Given the description of an element on the screen output the (x, y) to click on. 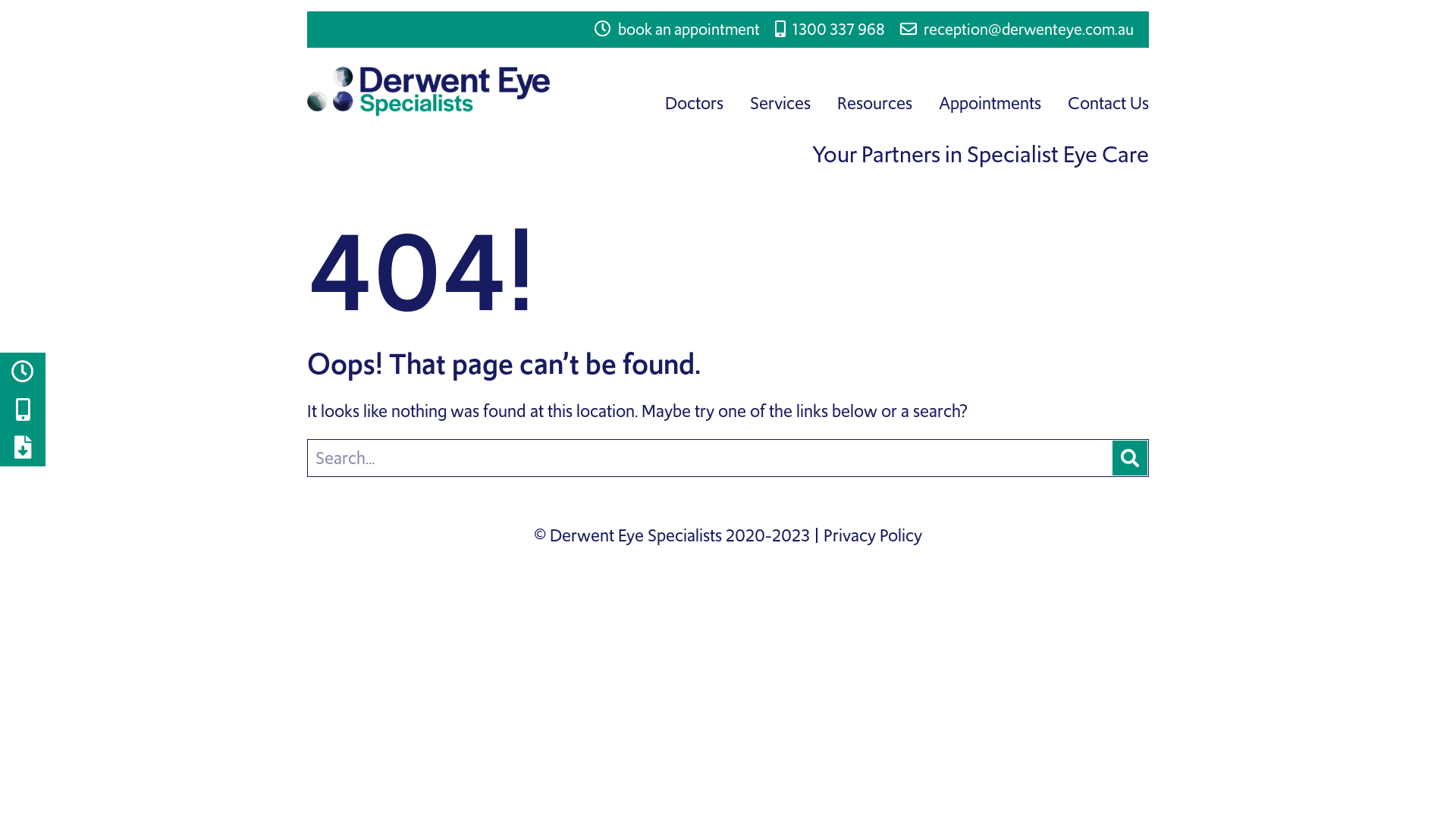
Privacy Policy Element type: text (872, 535)
Contact Us Element type: text (1107, 103)
Appointments Element type: text (989, 103)
Services Element type: text (779, 103)
reception@derwenteye.com.au Element type: text (1016, 29)
Resources Element type: text (874, 103)
SEARCH Element type: text (1129, 457)
Doctors Element type: text (694, 103)
book an appointment Element type: text (676, 29)
1300 337 968 Element type: text (829, 29)
